Given the description of an element on the screen output the (x, y) to click on. 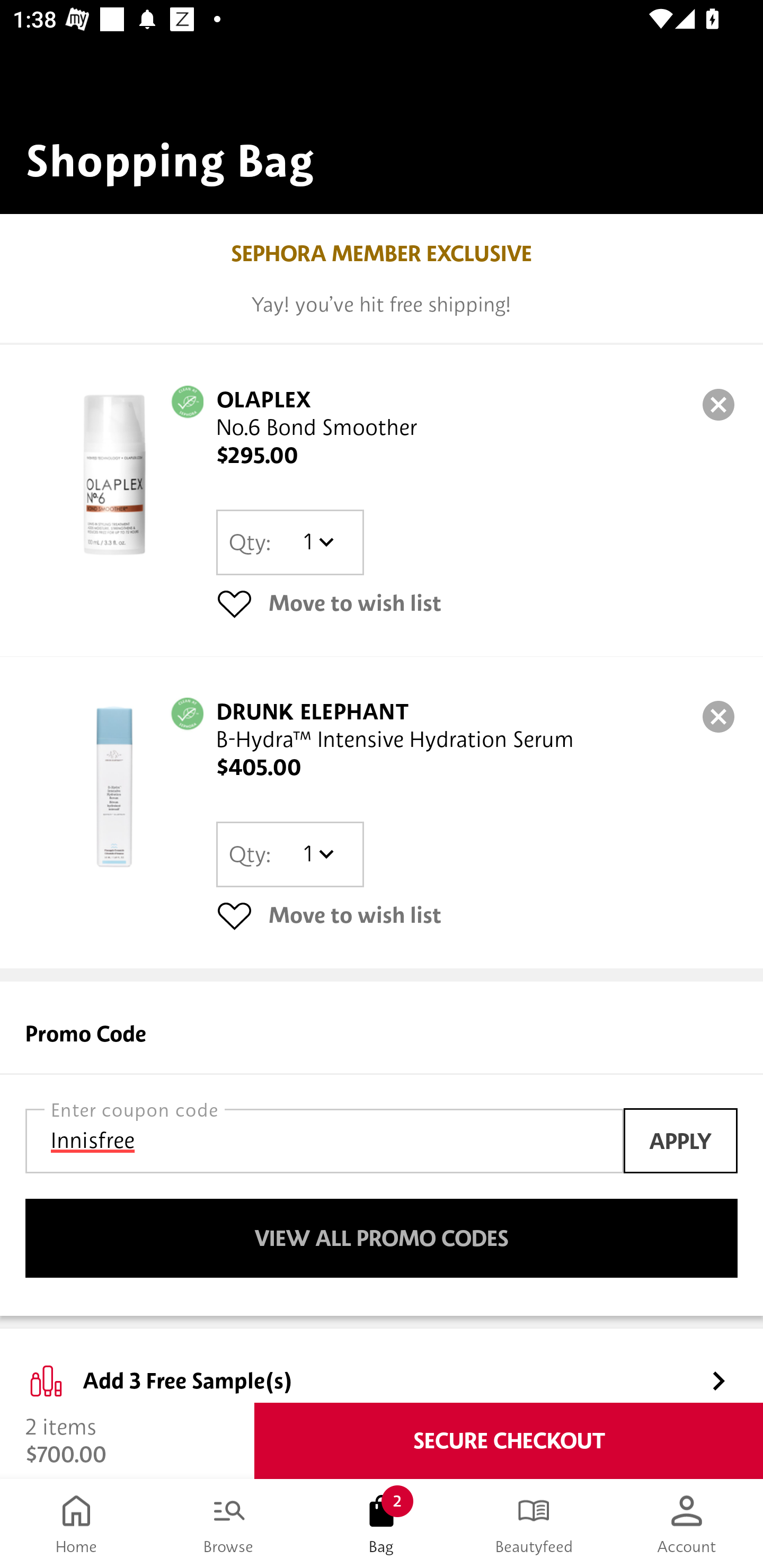
1 (317, 542)
Move to wish list (476, 602)
1 (317, 854)
Move to wish list (476, 914)
Promo Code Innisfree APPLY VIEW ALL PROMO CODES (381, 1148)
APPLY (680, 1140)
Innisfree (324, 1140)
VIEW ALL PROMO CODES (381, 1238)
Add 3 Free Sample(s) (381, 1365)
SECURE CHECKOUT (508, 1440)
Home (76, 1523)
Browse (228, 1523)
Beautyfeed (533, 1523)
Account (686, 1523)
